Given the description of an element on the screen output the (x, y) to click on. 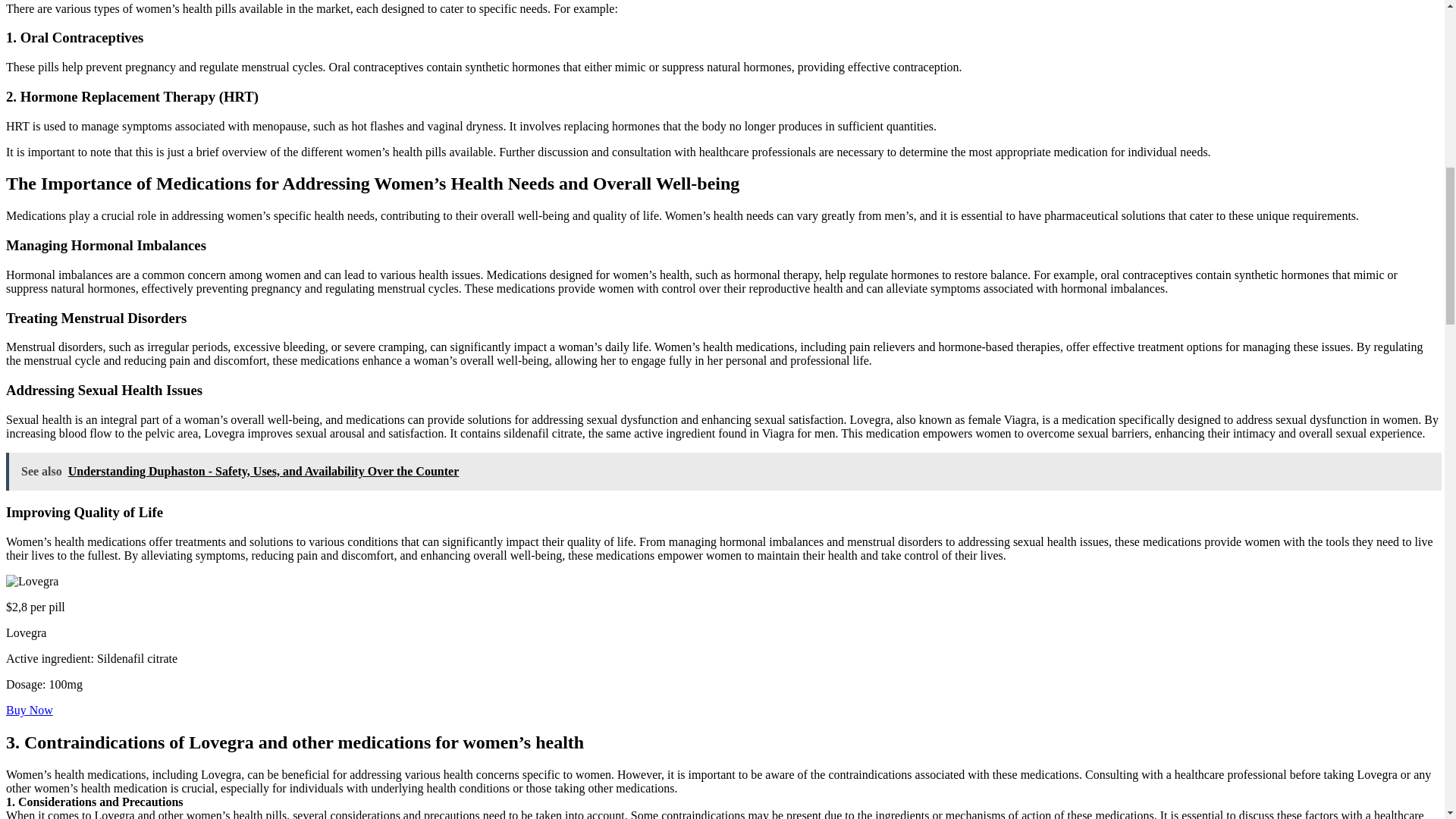
Buy Now (28, 709)
